Given the description of an element on the screen output the (x, y) to click on. 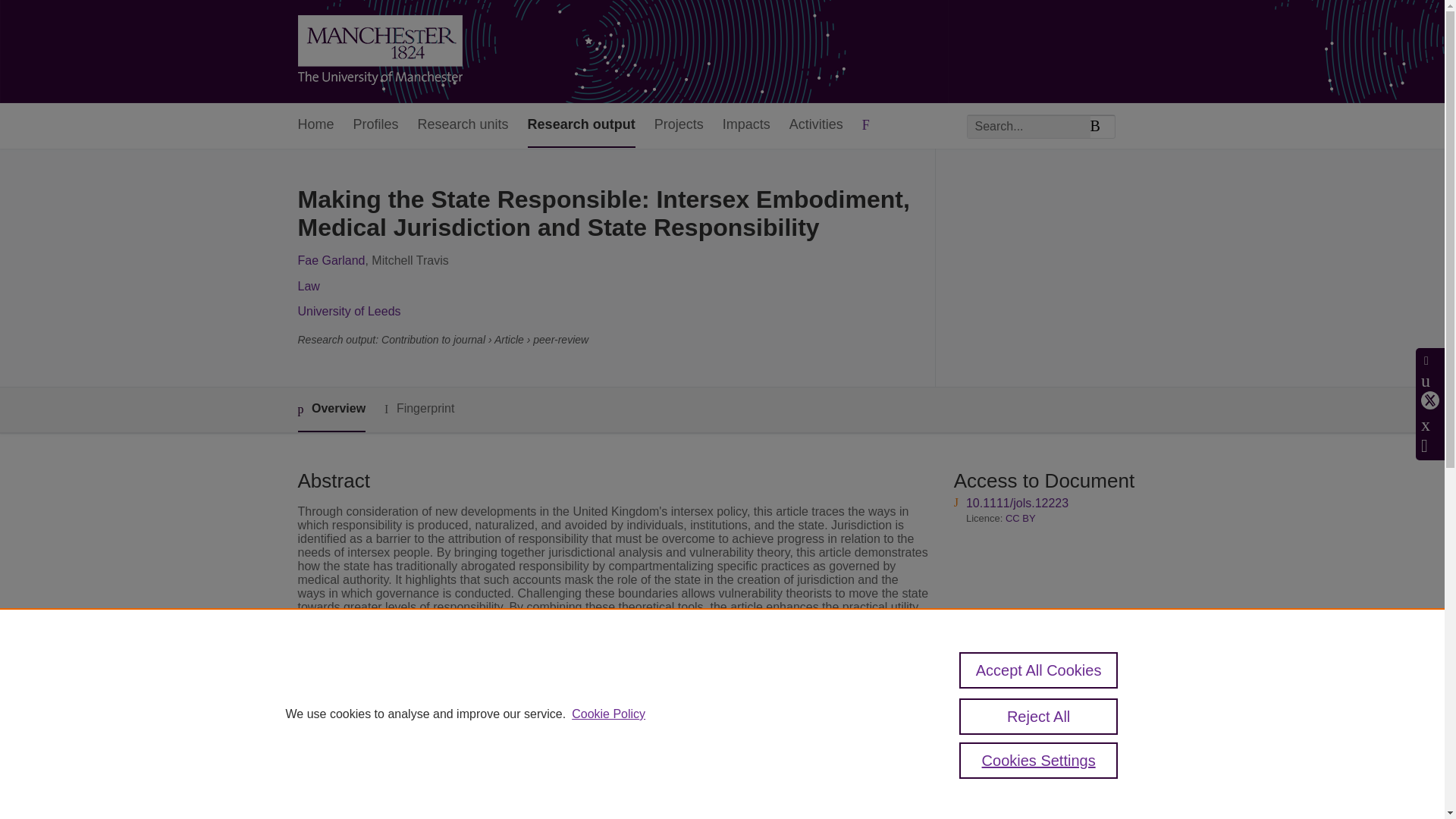
Research units (462, 125)
CC BY (1020, 518)
Overview (331, 409)
Impacts (746, 125)
Activities (816, 125)
Research Explorer The University of Manchester Home (379, 51)
Projects (678, 125)
Journal of Law and Society (581, 711)
Research output (580, 125)
University of Leeds (348, 310)
